Given the description of an element on the screen output the (x, y) to click on. 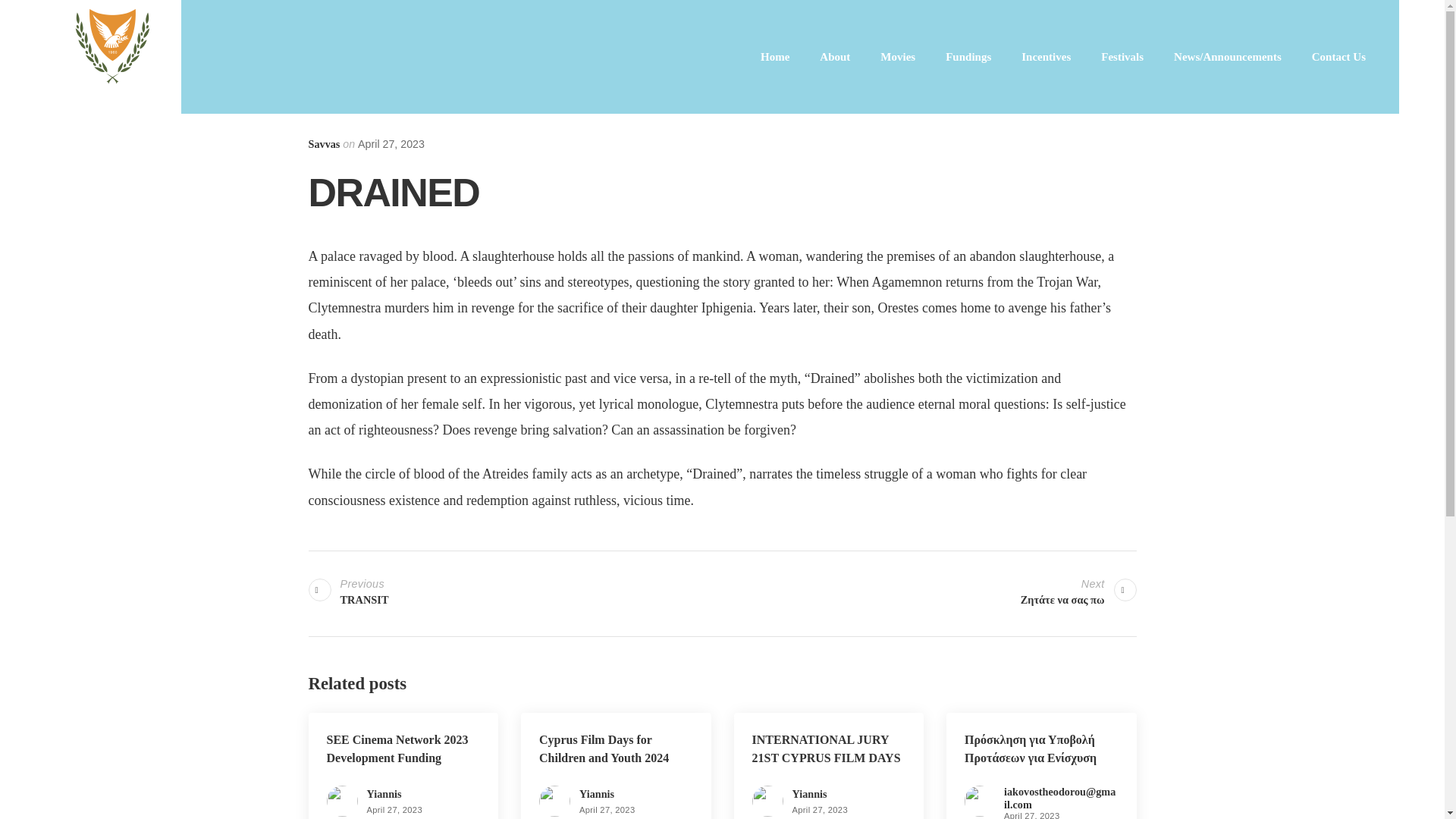
Movies (897, 56)
Festivals (1122, 56)
Filming In Cyprus (113, 56)
Posts by Yiannis (596, 793)
Fundings (968, 56)
Home (775, 56)
Posts by Yiannis (809, 793)
Visit Author Posts (323, 143)
About (834, 56)
Incentives (1046, 56)
